Given the description of an element on the screen output the (x, y) to click on. 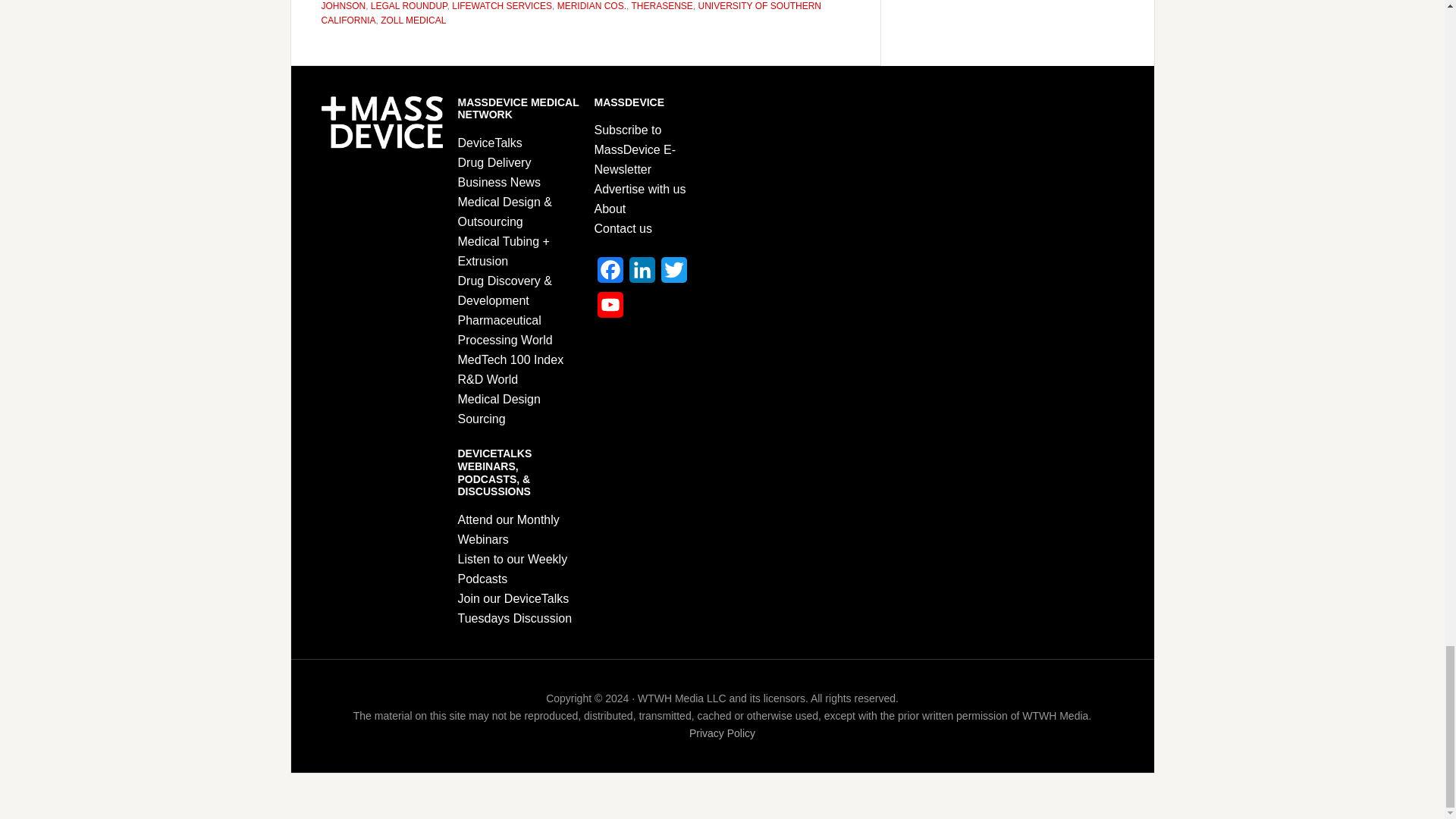
Facebook (610, 274)
YouTube Channel (610, 308)
LinkedIn Company (642, 274)
Twitter (674, 274)
